Given the description of an element on the screen output the (x, y) to click on. 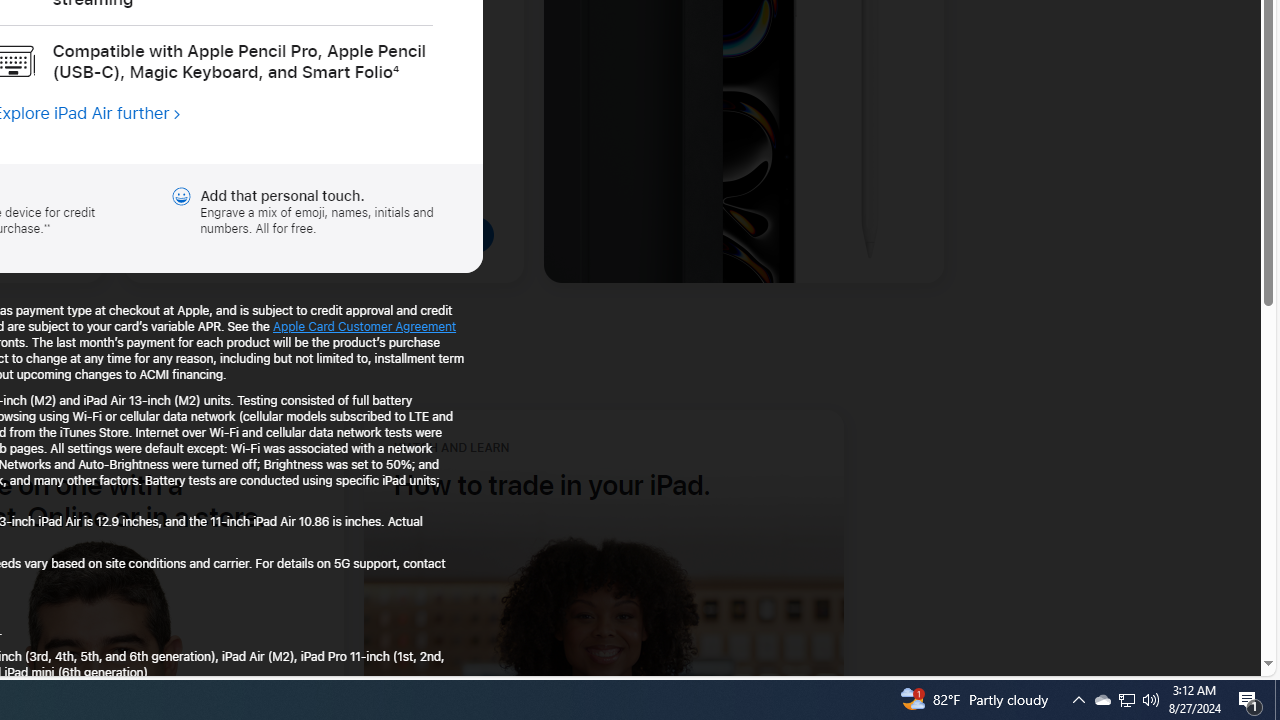
Apple Card Customer Agreement (Opens in a new window) (364, 326)
